Given the description of an element on the screen output the (x, y) to click on. 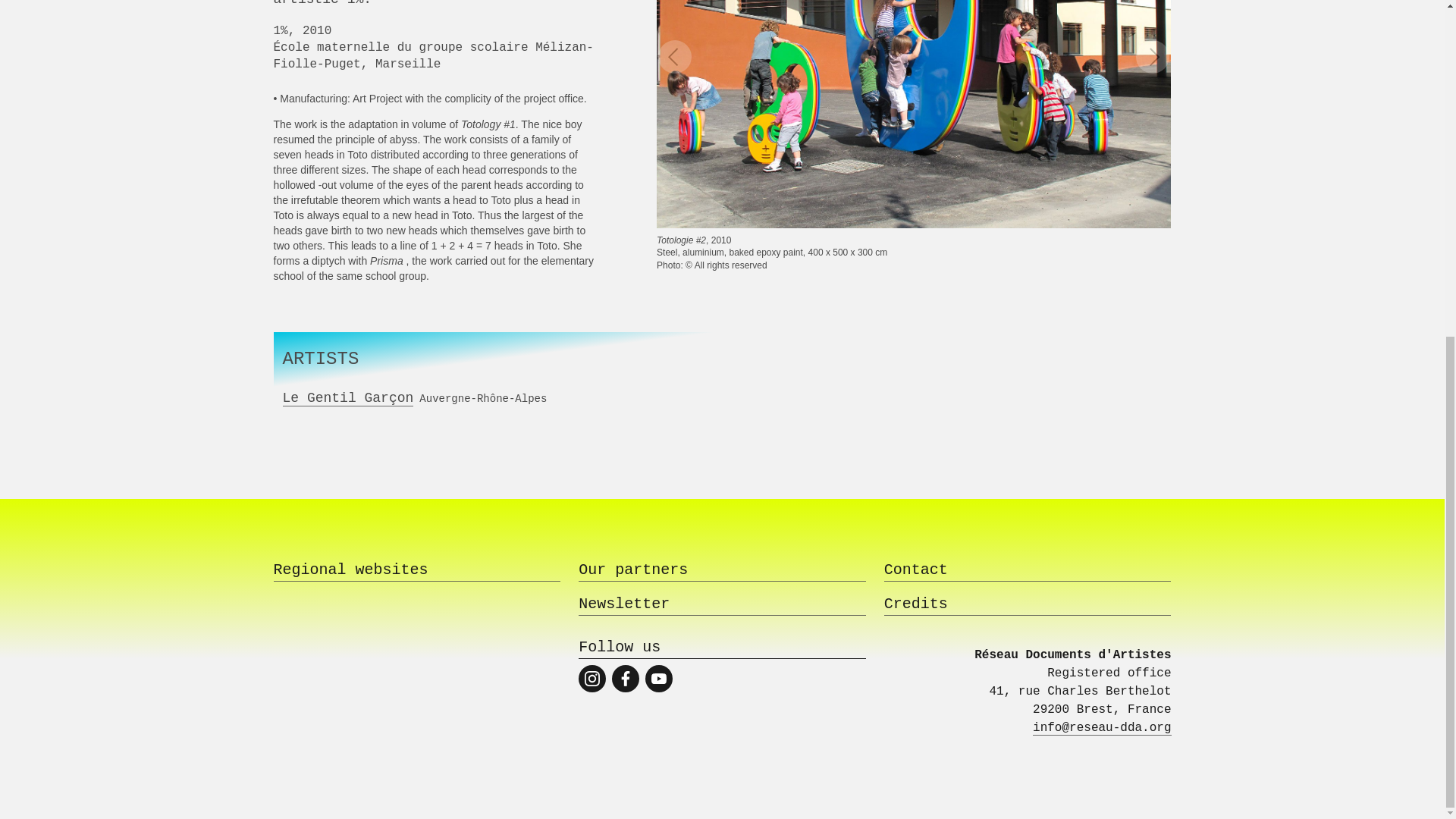
Visit our Instagram account (591, 678)
Regional websites (416, 570)
Credits (1027, 604)
Contact (1027, 570)
Visit our Youtube account (658, 678)
Visit our Facebook account (625, 678)
Our partners (722, 570)
Newsletter (722, 604)
